Given the description of an element on the screen output the (x, y) to click on. 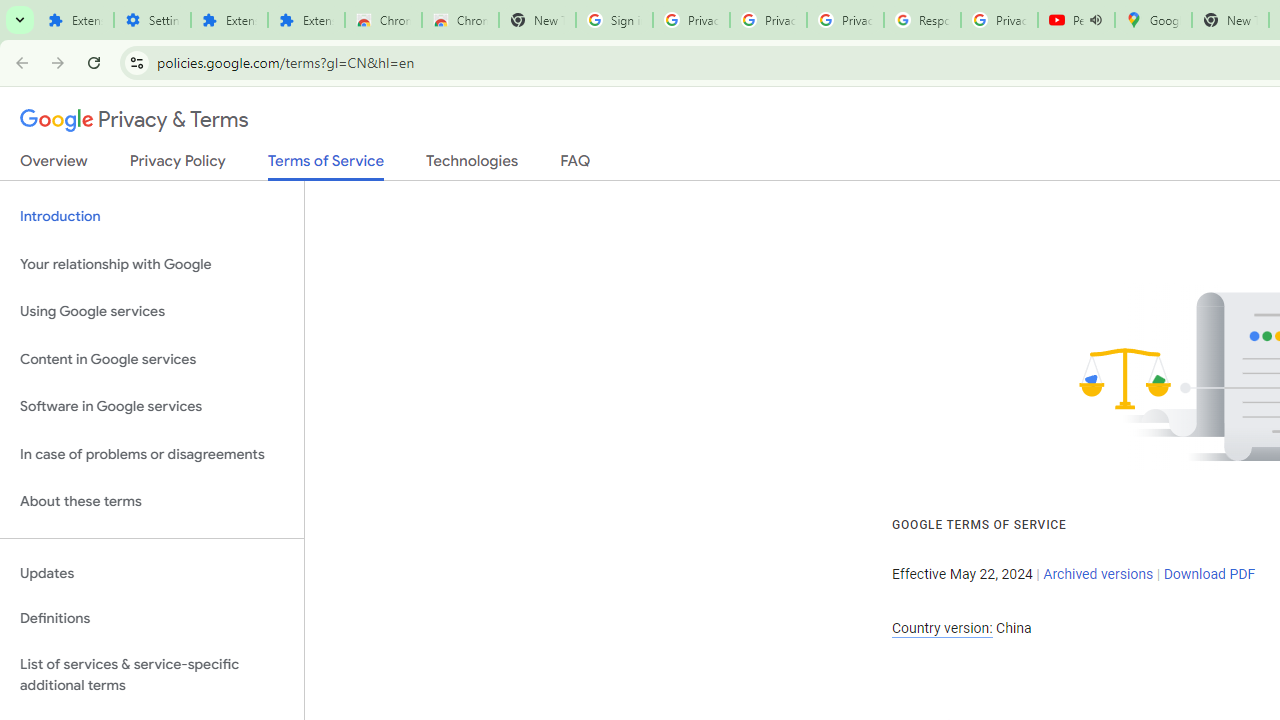
Content in Google services (152, 358)
Using Google services (152, 312)
Chrome Web Store - Themes (460, 20)
Definitions (152, 619)
Software in Google services (152, 407)
